Given the description of an element on the screen output the (x, y) to click on. 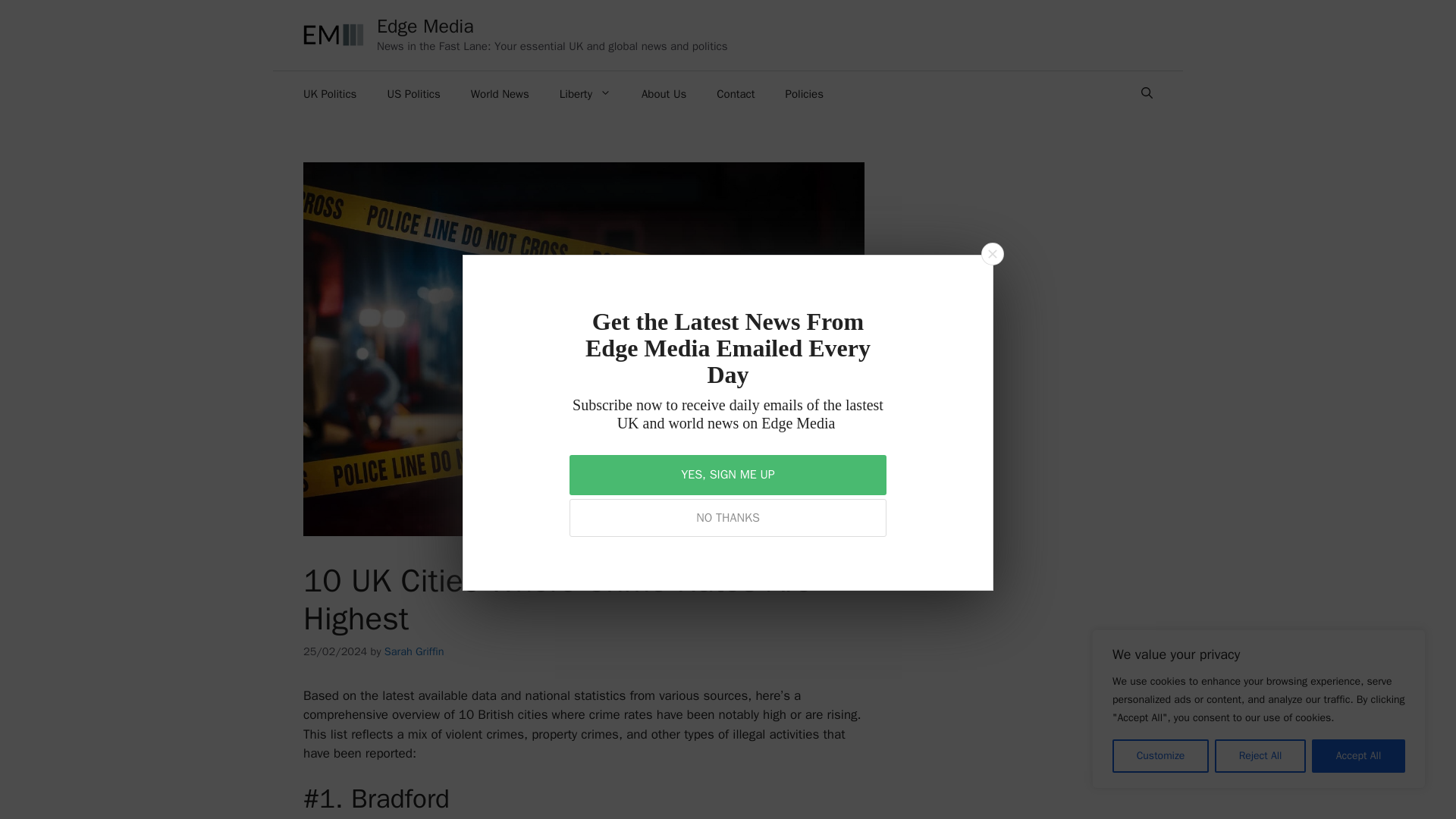
Customize (1160, 756)
View all posts by Sarah Griffin (414, 651)
US Politics (412, 94)
UK Politics (329, 94)
Yes, sign me up (727, 475)
Contact (735, 94)
Edge Media (425, 25)
Liberty (585, 94)
Sarah Griffin (414, 651)
No Thanks (727, 517)
Reject All (1260, 756)
Policies (804, 94)
Accept All (1358, 756)
Close (992, 253)
World News (499, 94)
